Given the description of an element on the screen output the (x, y) to click on. 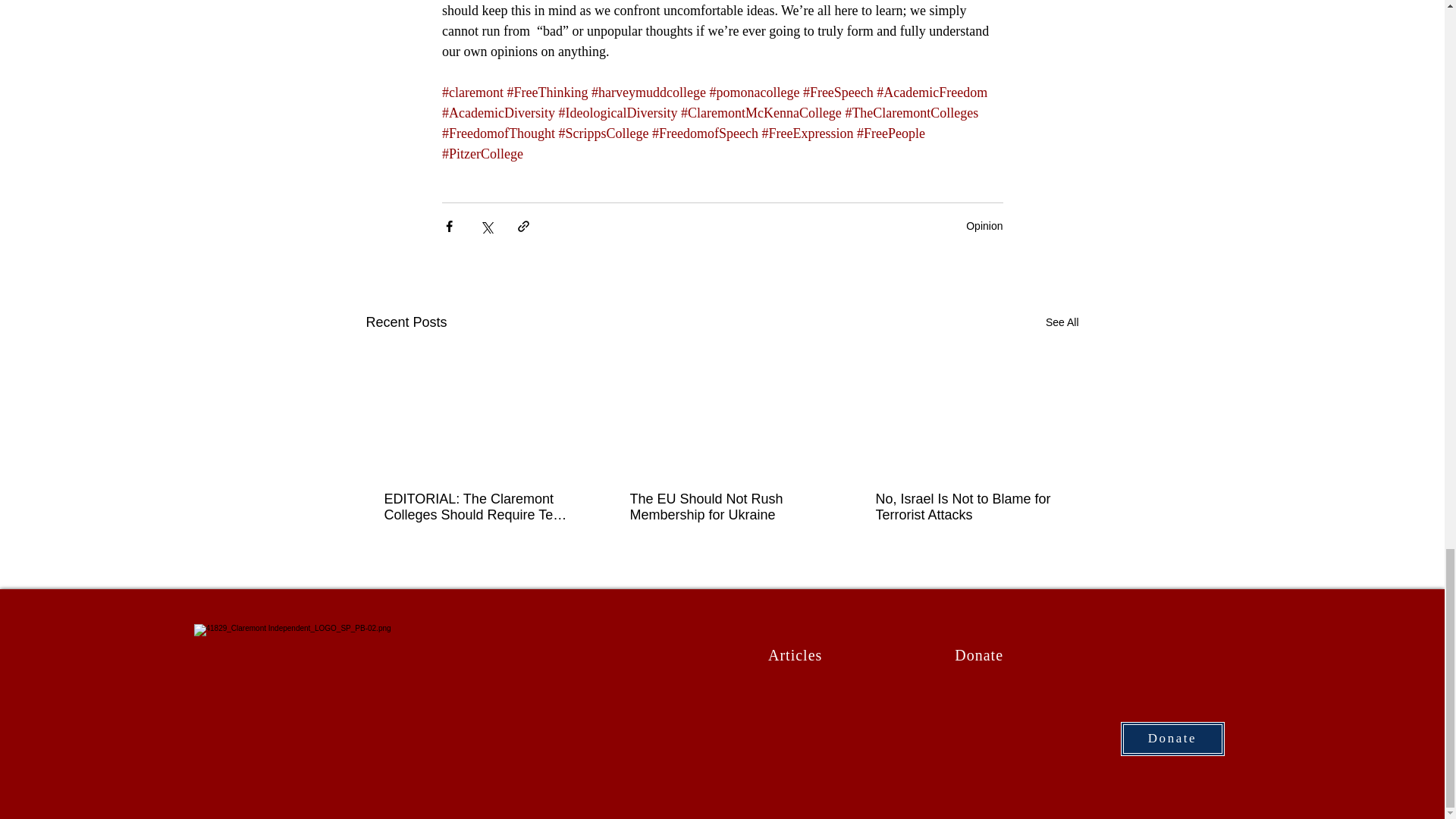
The EU Should Not Rush Membership for Ukraine (720, 506)
Articles (794, 654)
Donate (979, 654)
Opinion (984, 225)
No, Israel Is Not to Blame for Terrorist Attacks (966, 506)
See All (1061, 322)
